Given the description of an element on the screen output the (x, y) to click on. 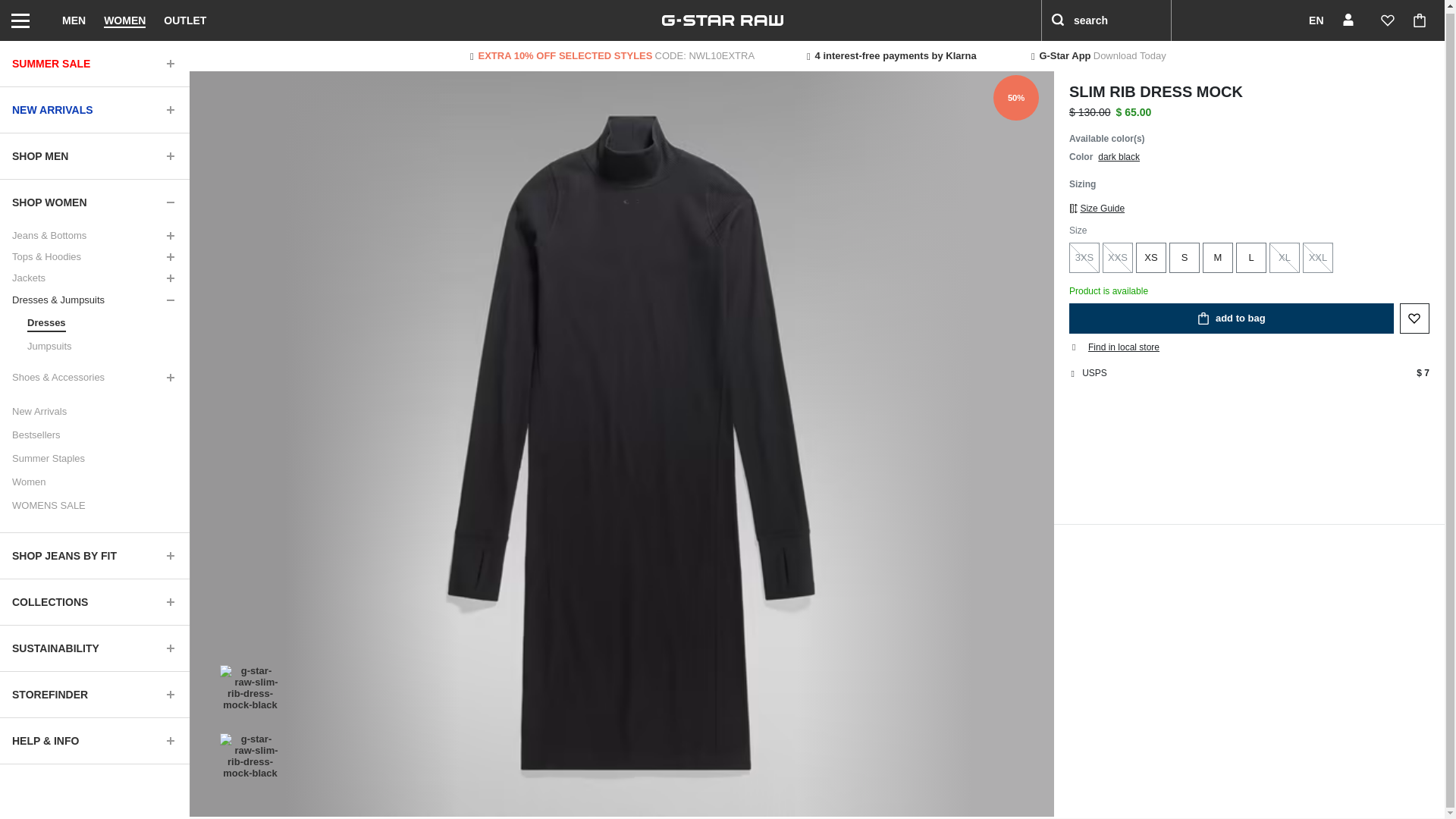
OUTLET (184, 19)
WOMEN (124, 19)
NEW ARRIVALS (94, 107)
SHOP MEN (94, 153)
SUMMER SALE (94, 61)
EN (1306, 19)
G-Star RAW (721, 19)
MEN (73, 19)
